Given the description of an element on the screen output the (x, y) to click on. 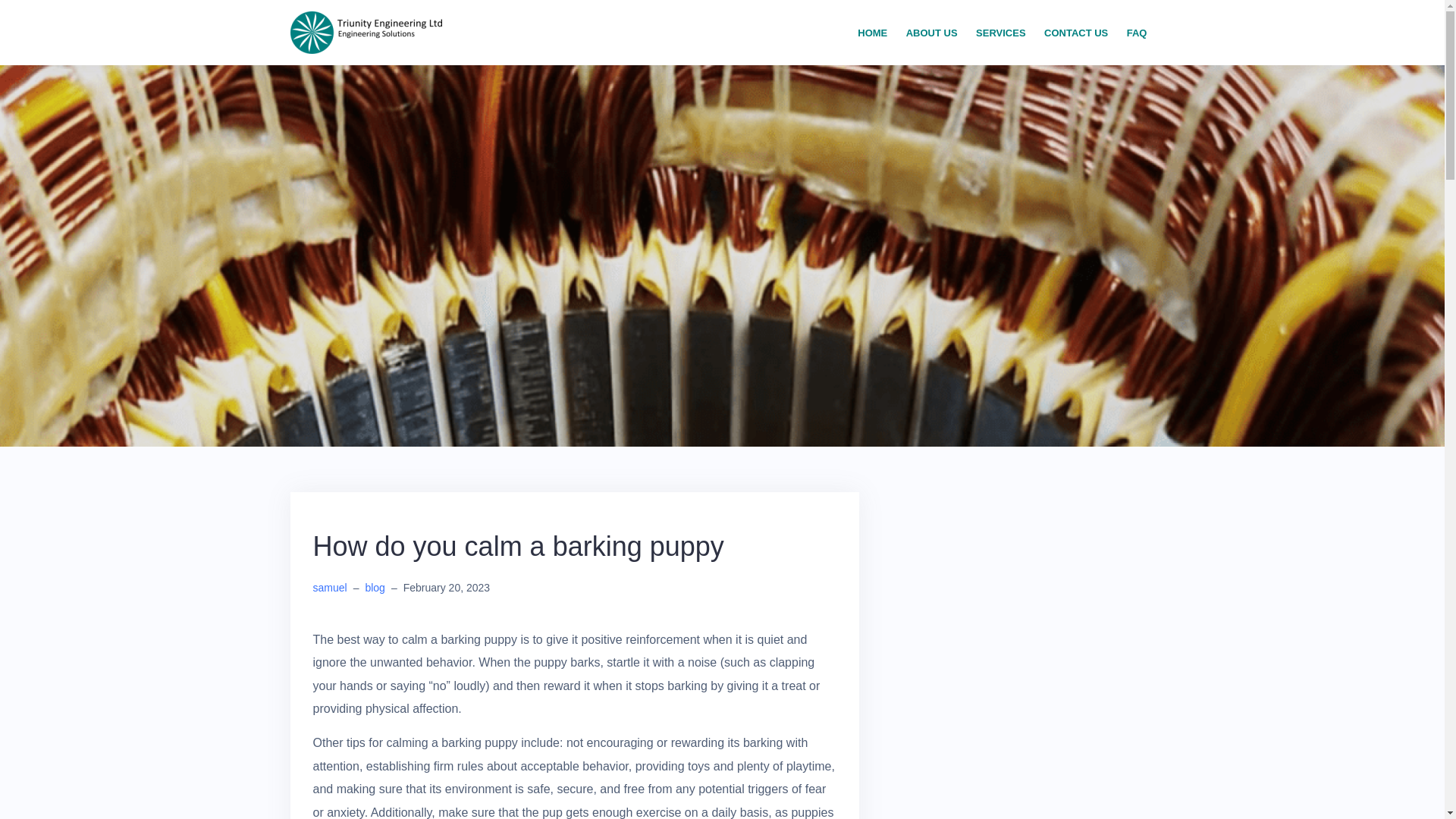
ABOUT US (931, 33)
CONTACT US (1075, 33)
HOME (871, 33)
FAQ (1136, 33)
SERVICES (1000, 33)
blog (374, 587)
samuel (329, 587)
